Given the description of an element on the screen output the (x, y) to click on. 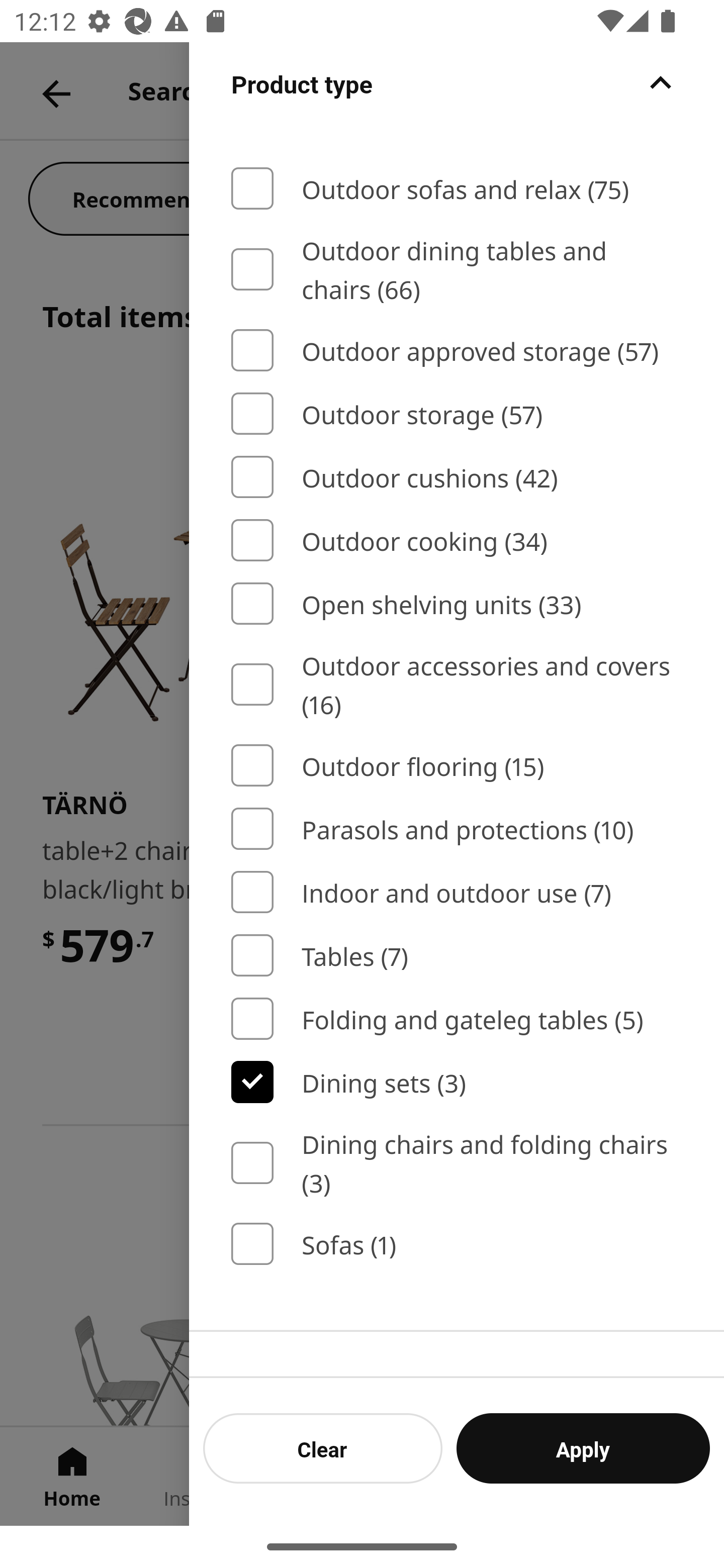
Product type (456, 104)
Outdoor dining tables and chairs (66) (456, 268)
Outdoor approved storage (57) (456, 350)
Outdoor cushions (42) (456, 477)
Open shelving units (33) (456, 602)
Outdoor accessories and covers (16) (456, 684)
